Given the description of an element on the screen output the (x, y) to click on. 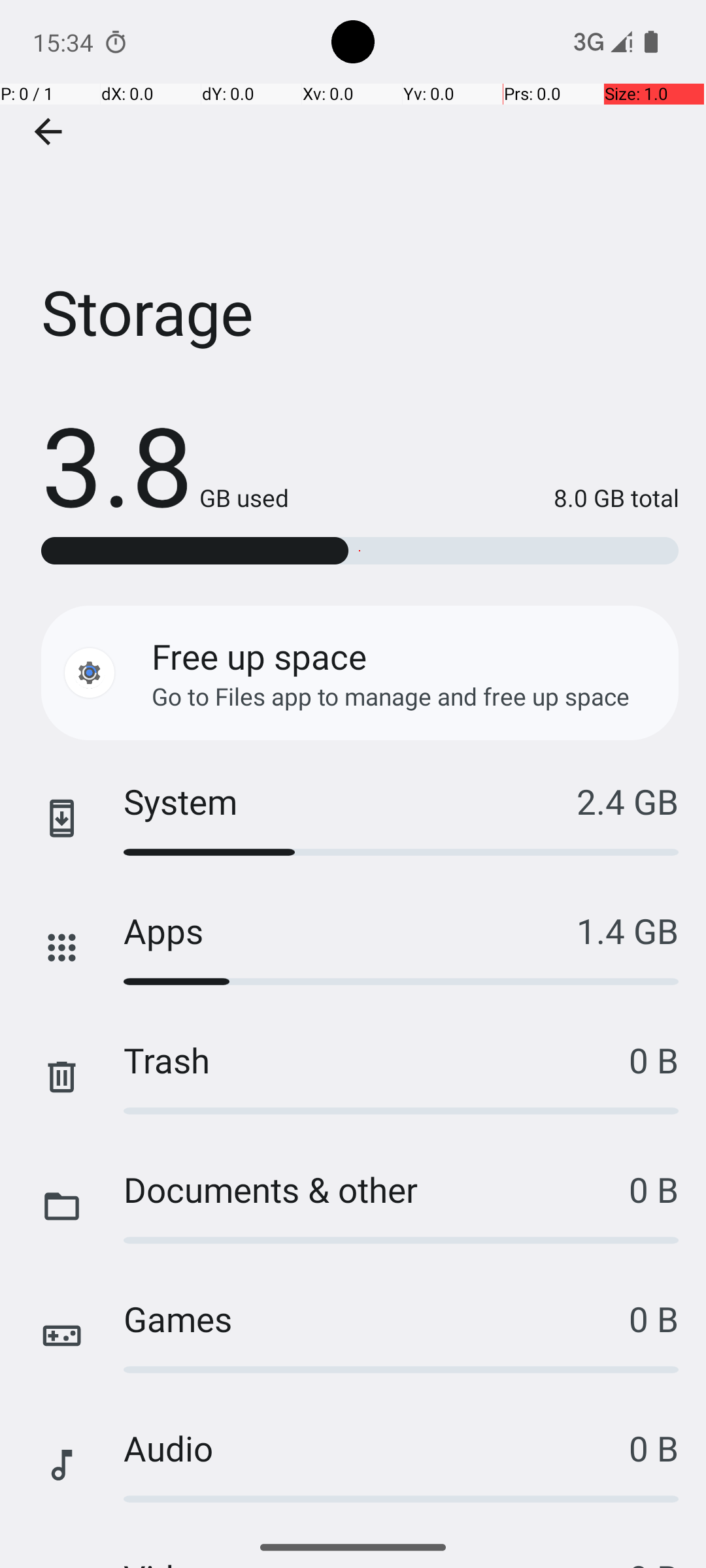
2.4 GB Element type: android.widget.TextView (627, 801)
